Given the description of an element on the screen output the (x, y) to click on. 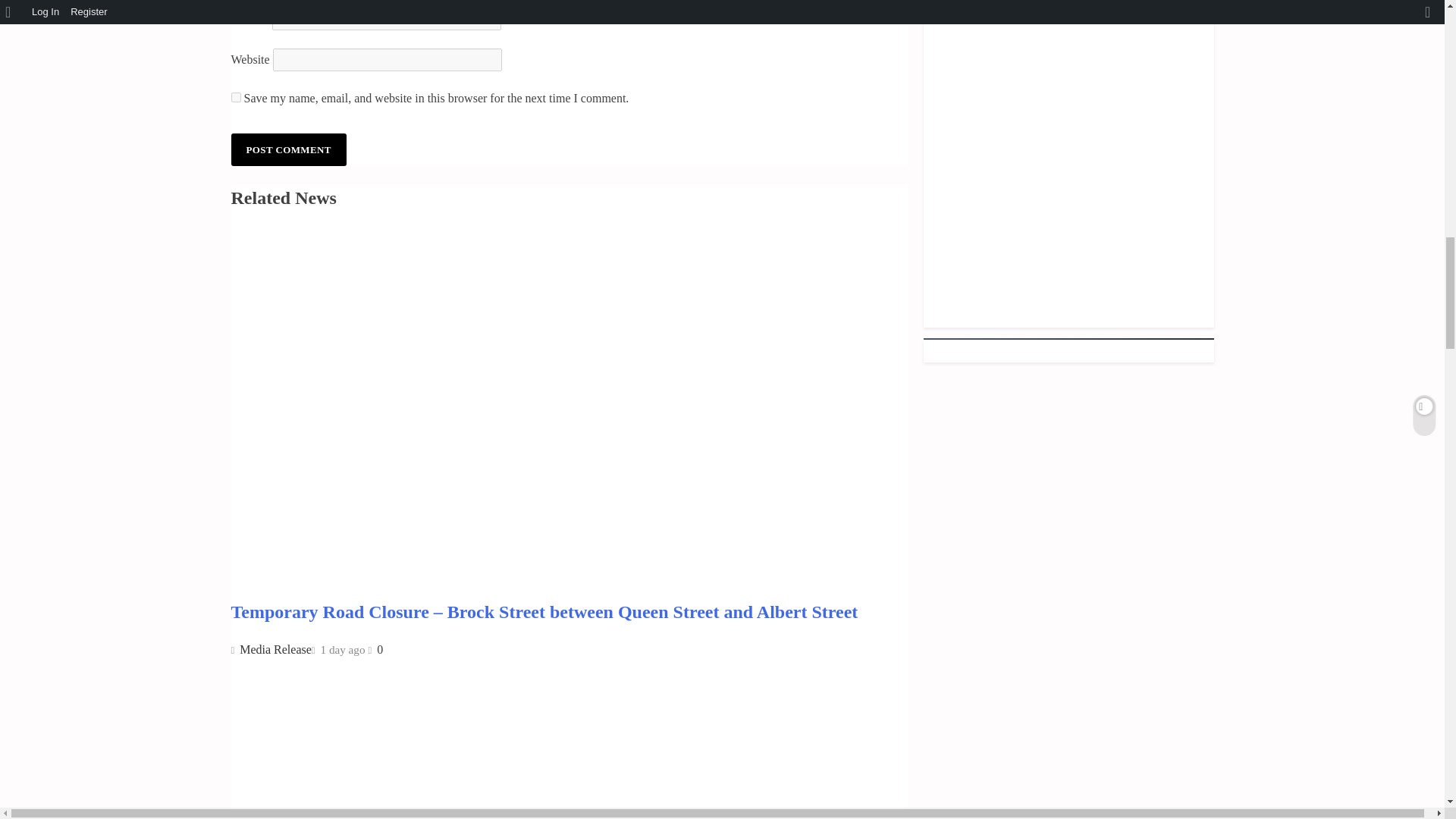
yes (235, 97)
Post Comment (288, 149)
